Given the description of an element on the screen output the (x, y) to click on. 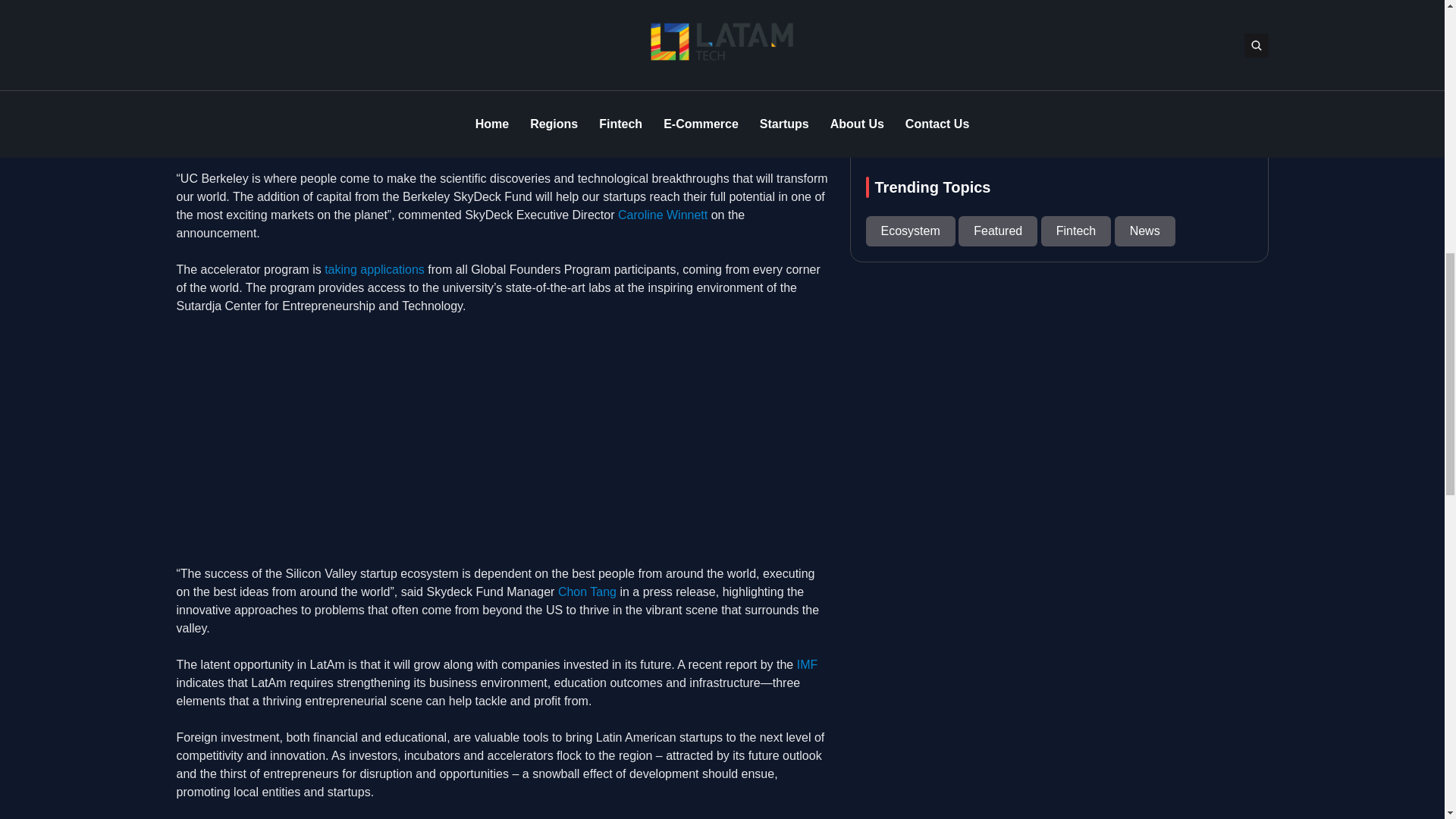
Wheel The World (458, 123)
Kiwi Campus (211, 123)
Caroline Winnett (662, 214)
taking applications (374, 269)
Chon Tang (586, 591)
SkyDeck  Why Apply HD (365, 440)
IMF (807, 664)
